Given the description of an element on the screen output the (x, y) to click on. 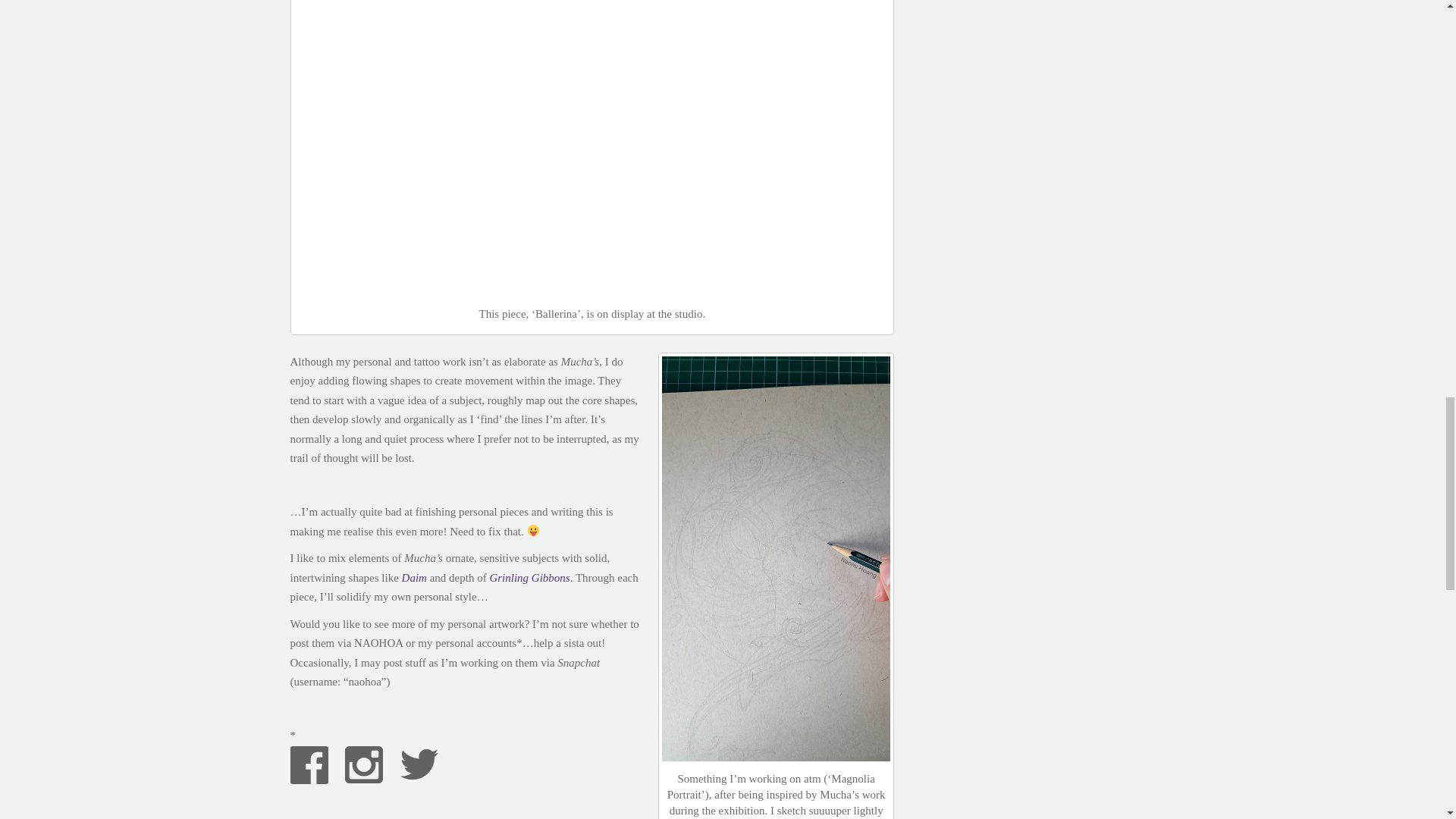
Grinling Gibbons (529, 577)
Daim (413, 577)
